Given the description of an element on the screen output the (x, y) to click on. 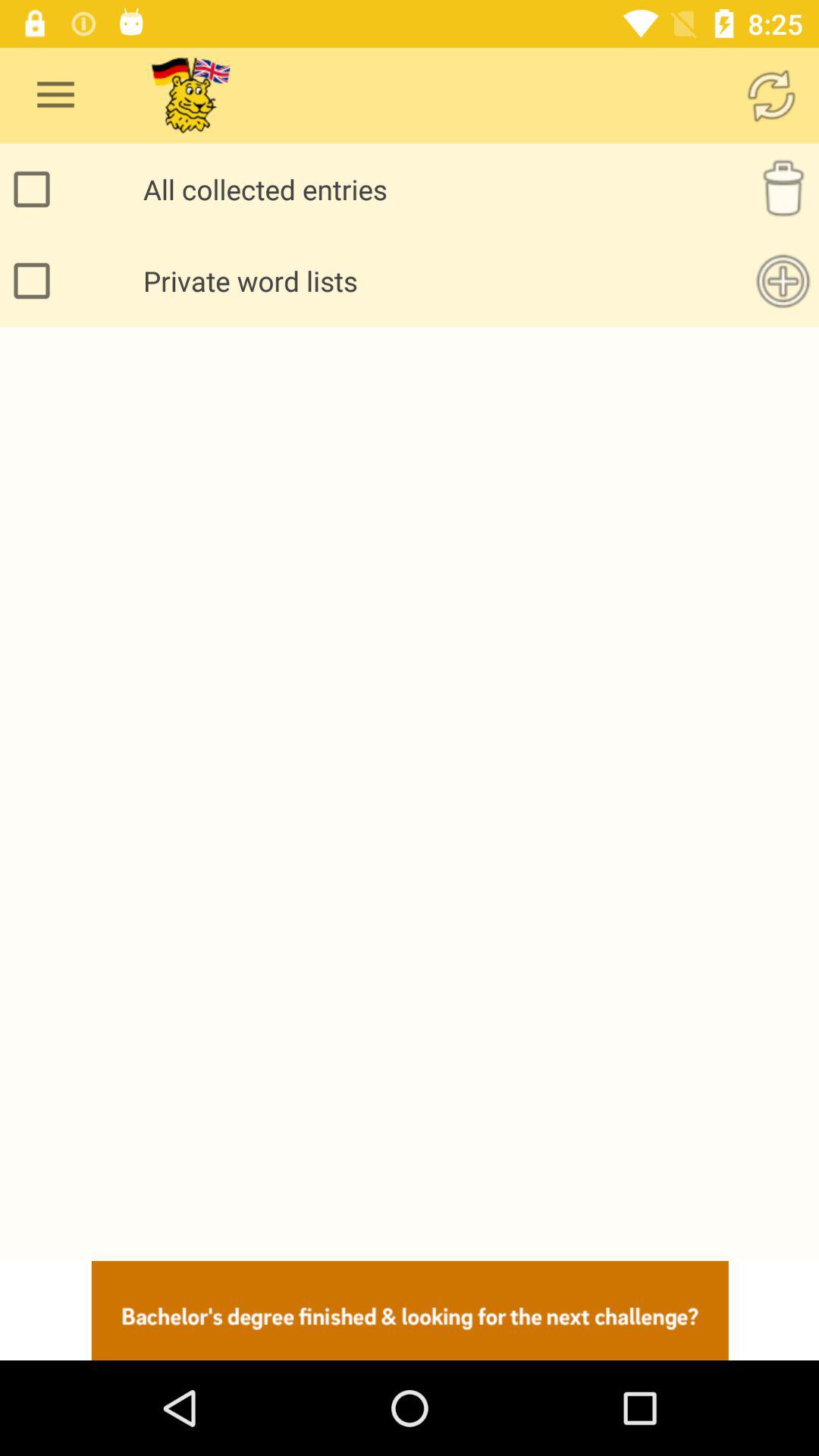
delete (783, 189)
